Given the description of an element on the screen output the (x, y) to click on. 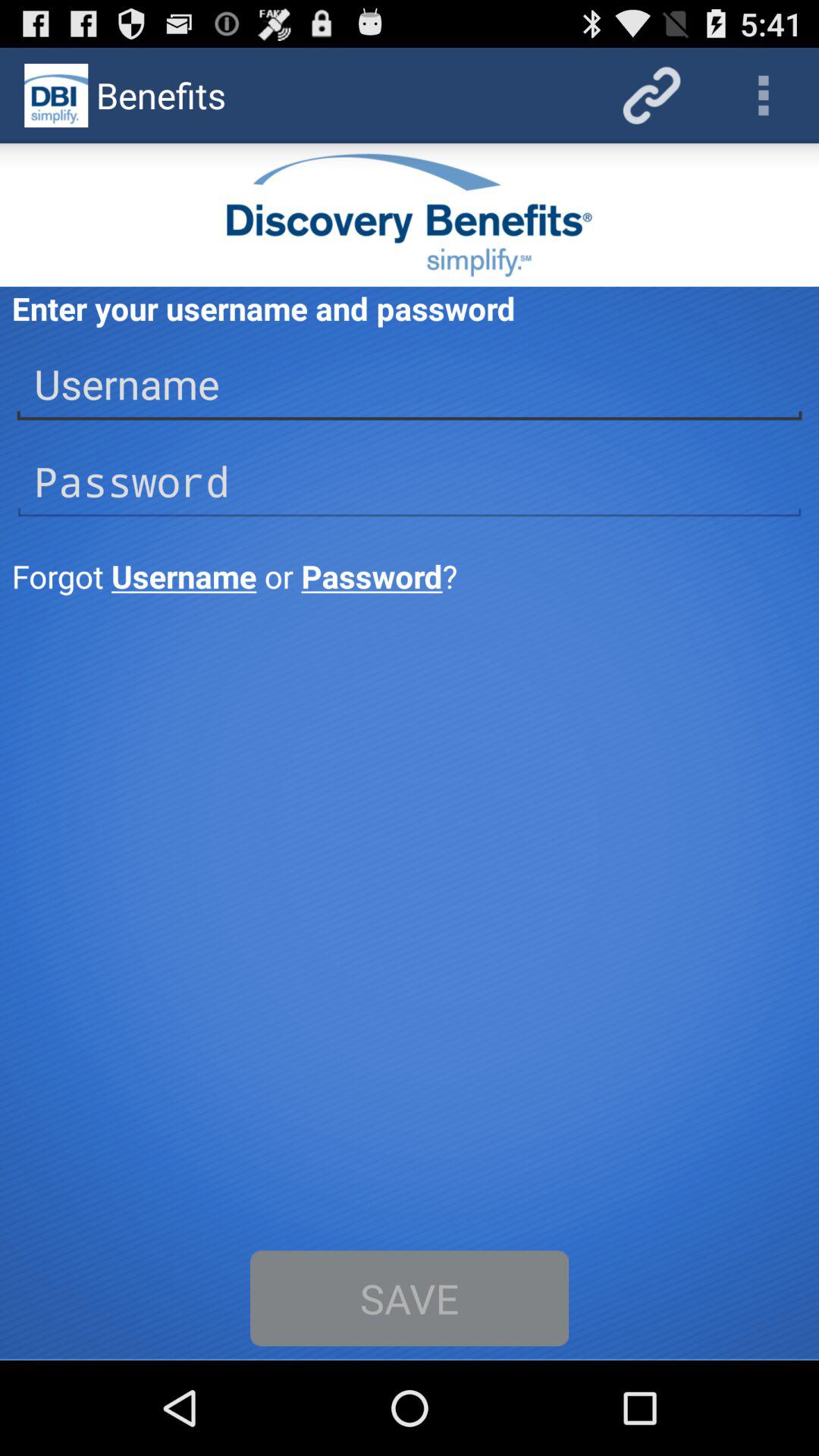
choose the button under password (410, 575)
select username above password (409, 384)
select the second text feed box (409, 481)
select the logo left to benefits (55, 95)
option left to more button at top right (651, 95)
